Given the description of an element on the screen output the (x, y) to click on. 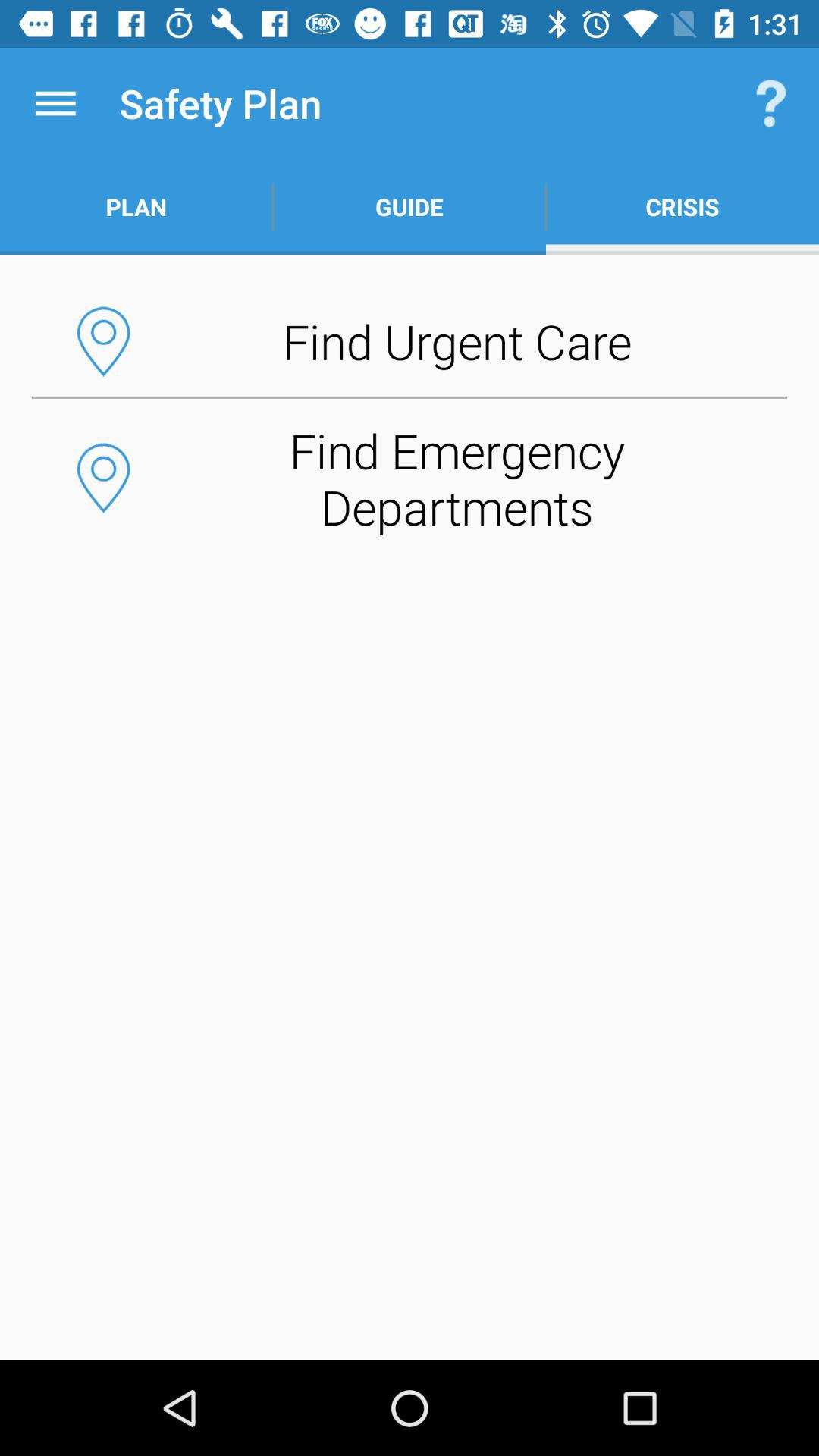
flip until the find emergency departments item (409, 478)
